Given the description of an element on the screen output the (x, y) to click on. 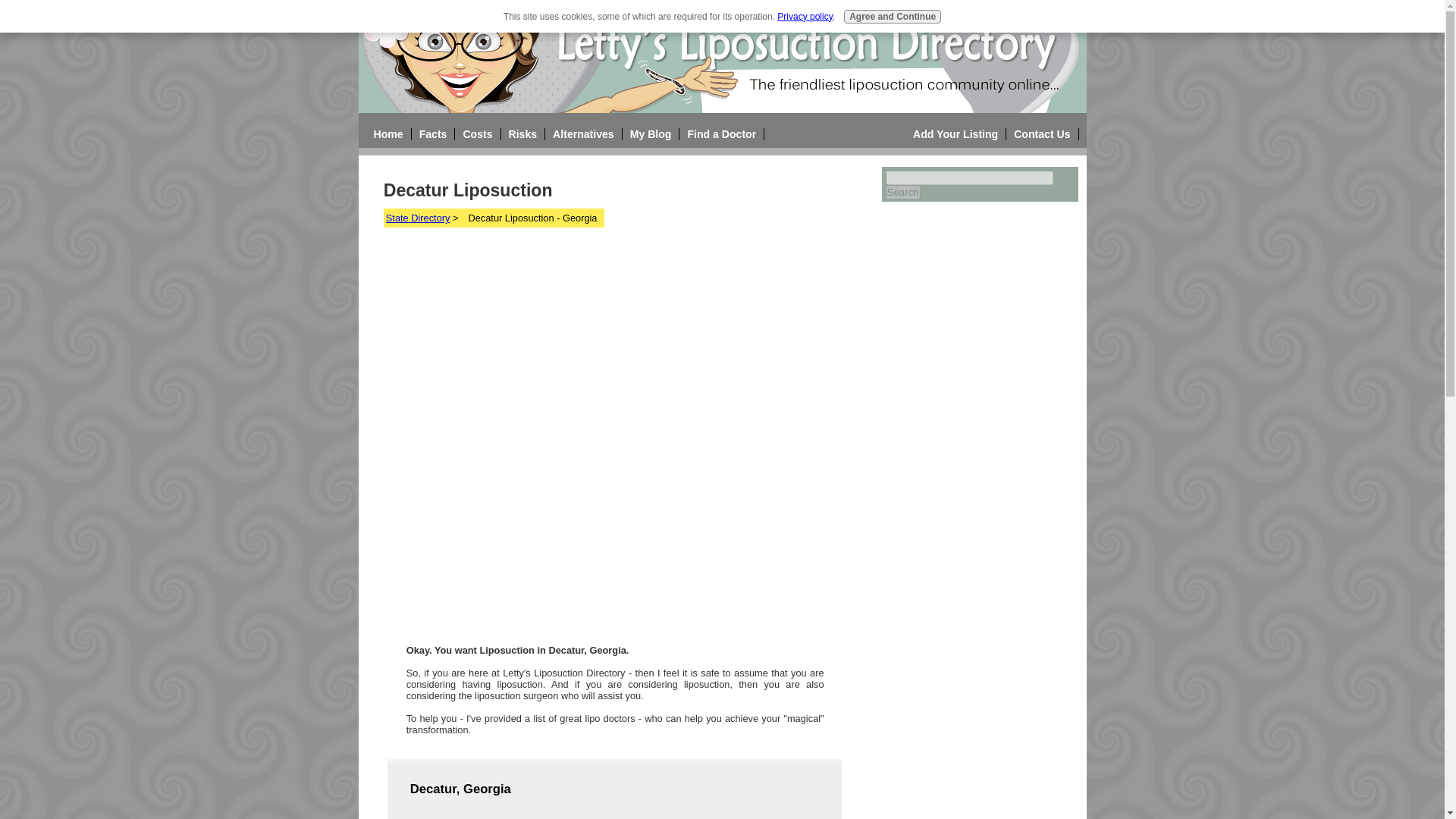
My Blog (650, 133)
Agree and Continue (892, 16)
Privacy policy (804, 16)
Risks (522, 133)
Costs (477, 133)
Alternatives (583, 133)
Search (902, 192)
Facts (432, 133)
Home (387, 133)
Find a Doctor (721, 133)
